Given the description of an element on the screen output the (x, y) to click on. 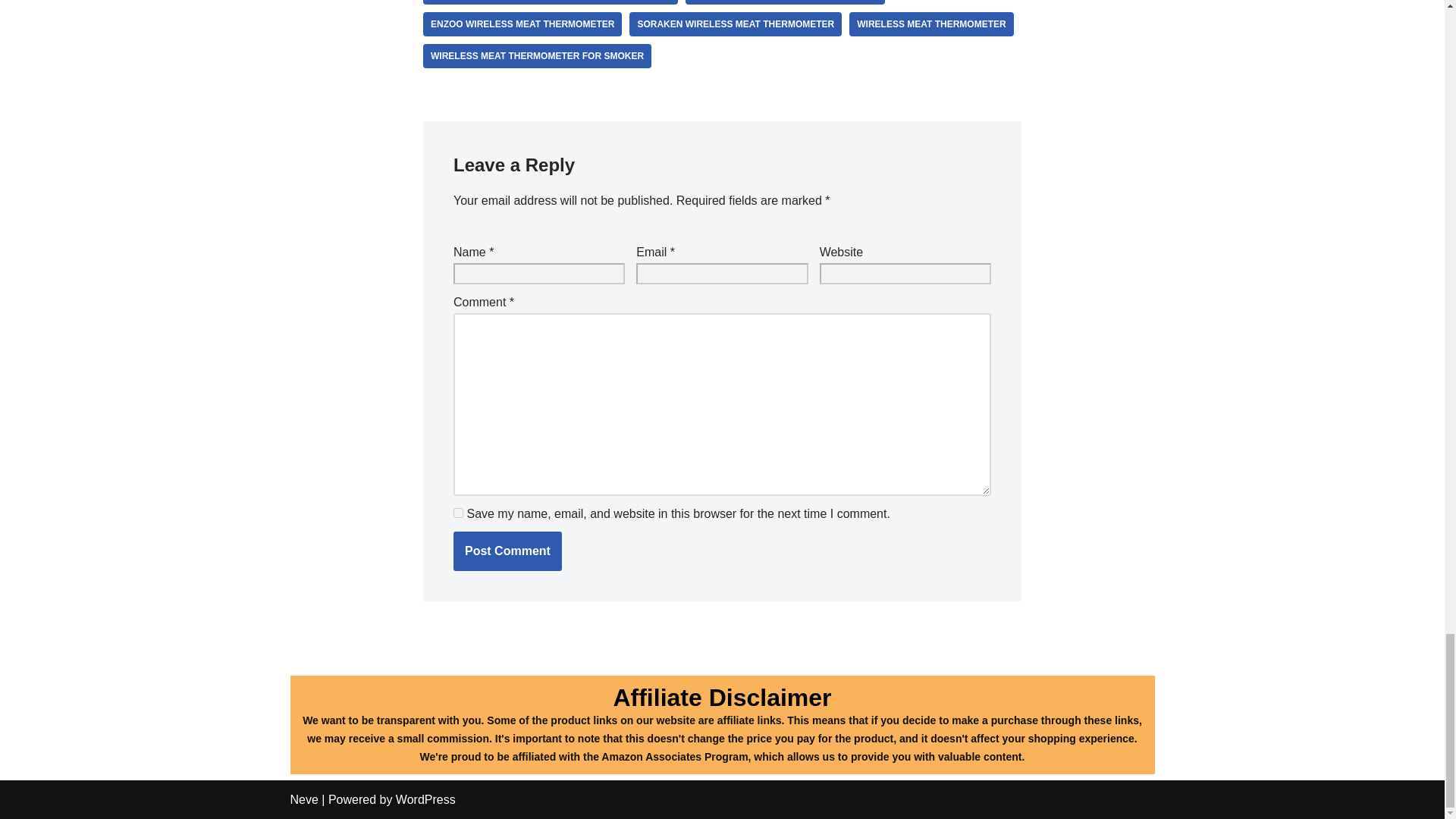
BEST WIRELESS MEAT THERMOMETER FOR SMOKER (550, 2)
enzoo wireless meat thermometer (522, 24)
wireless meat thermometer for smoker (536, 55)
SORAKEN WIRELESS MEAT THERMOMETER (734, 24)
bfour wireless meat thermometer (784, 2)
Wireless Meat Thermometer (930, 24)
soraken wireless meat thermometer (734, 24)
WIRELESS MEAT THERMOMETER (930, 24)
WIRELESS MEAT THERMOMETER FOR SMOKER (536, 55)
BFOUR WIRELESS MEAT THERMOMETER (784, 2)
yes (457, 512)
Post Comment (507, 550)
Post Comment (507, 550)
ENZOO WIRELESS MEAT THERMOMETER (522, 24)
best wireless meat thermometer for smoker (550, 2)
